Given the description of an element on the screen output the (x, y) to click on. 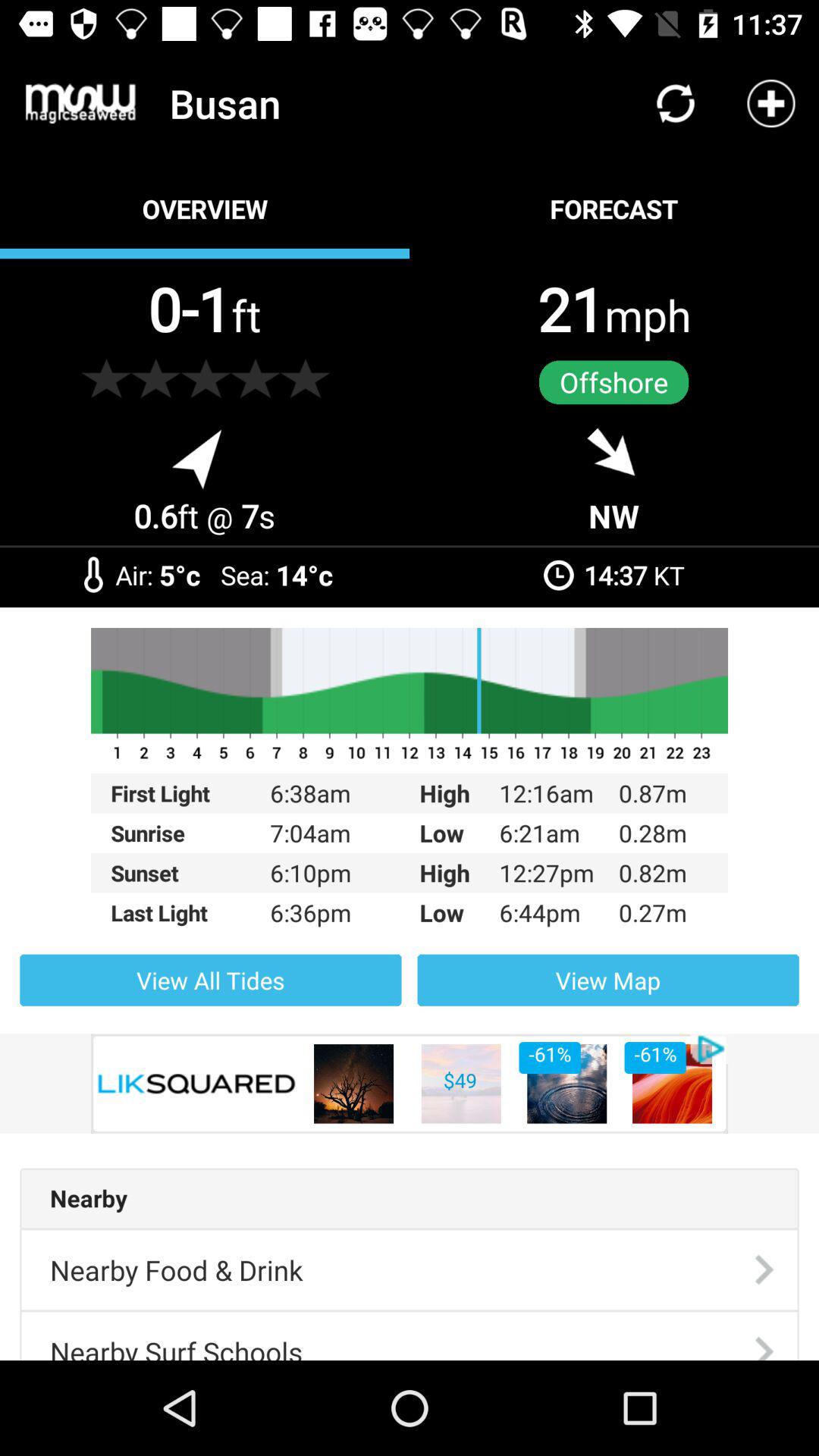
turn on icon above forecast icon (675, 103)
